Given the description of an element on the screen output the (x, y) to click on. 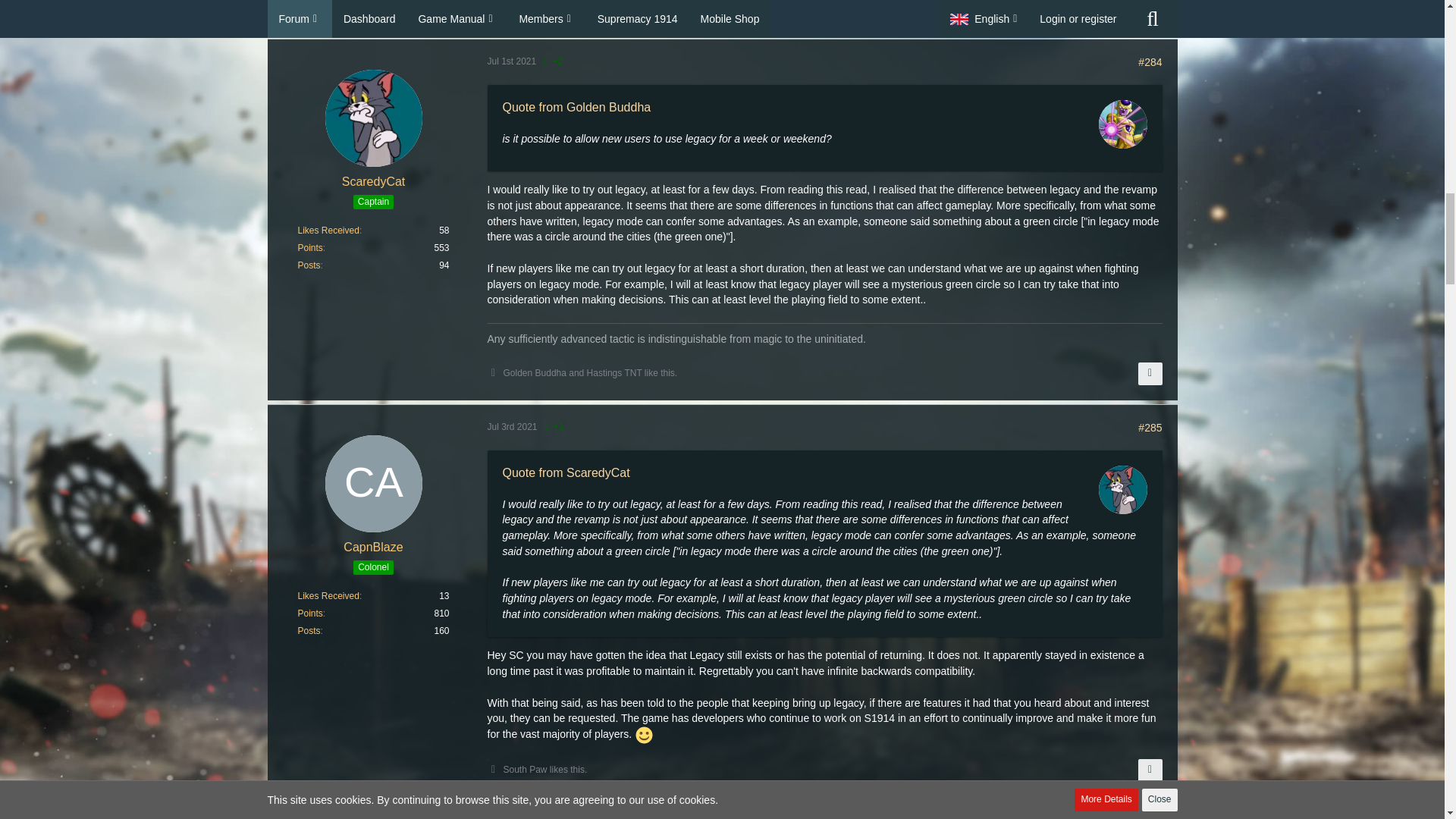
smile (643, 734)
